Given the description of an element on the screen output the (x, y) to click on. 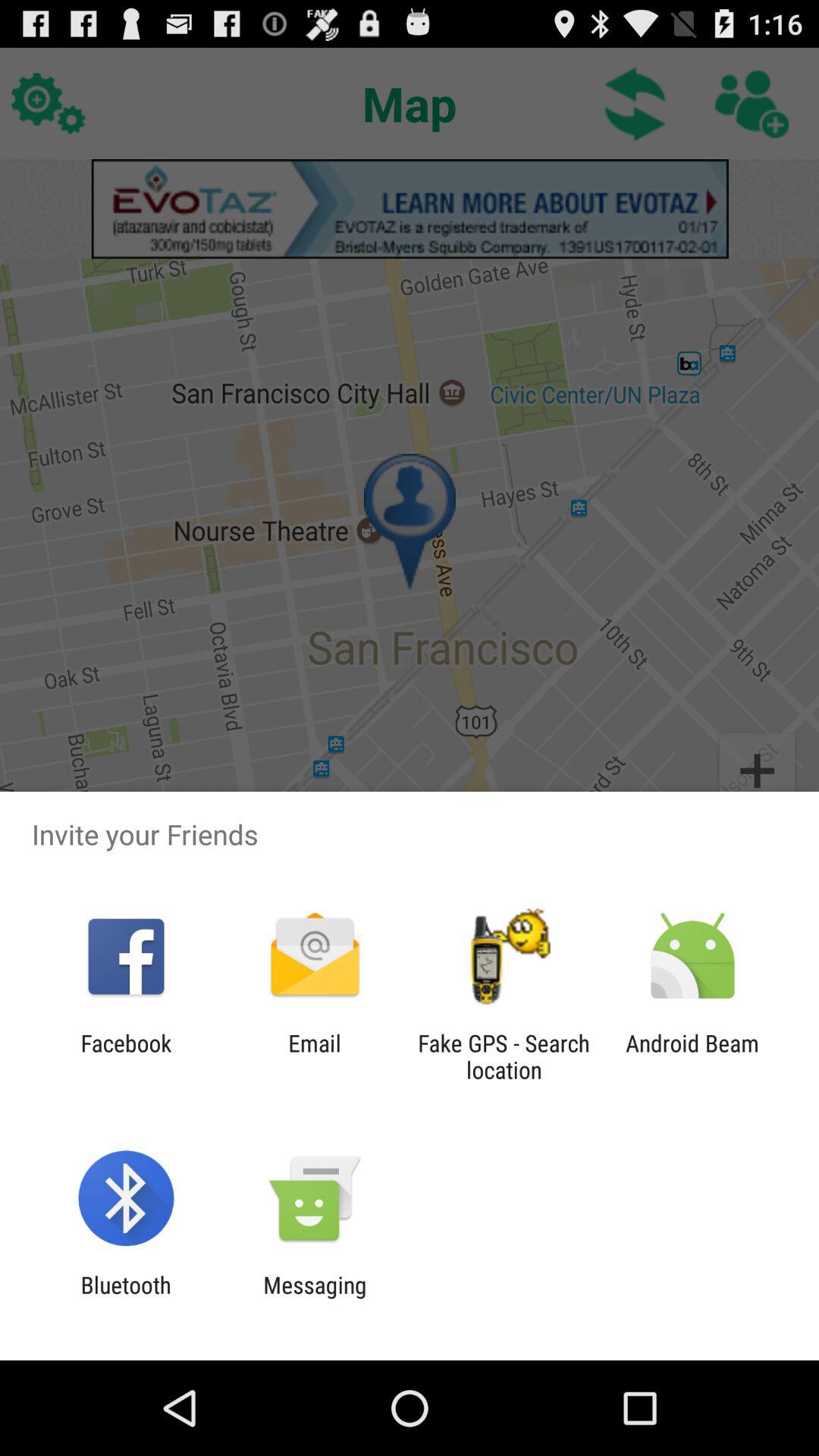
open app next to the fake gps search icon (692, 1056)
